Given the description of an element on the screen output the (x, y) to click on. 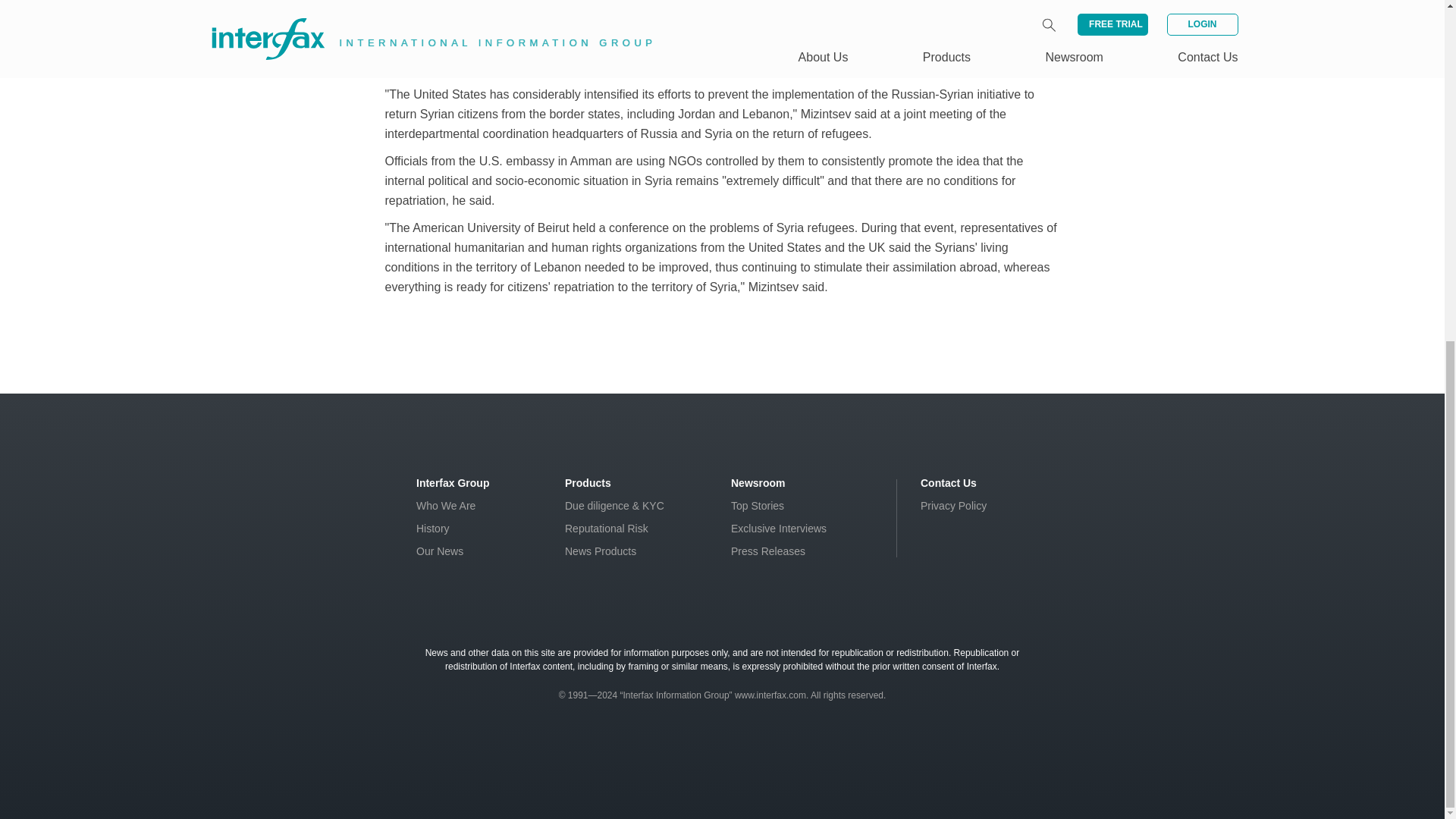
Interfax Group (452, 482)
Who We Are (446, 505)
Our News (439, 551)
History (432, 528)
